Given the description of an element on the screen output the (x, y) to click on. 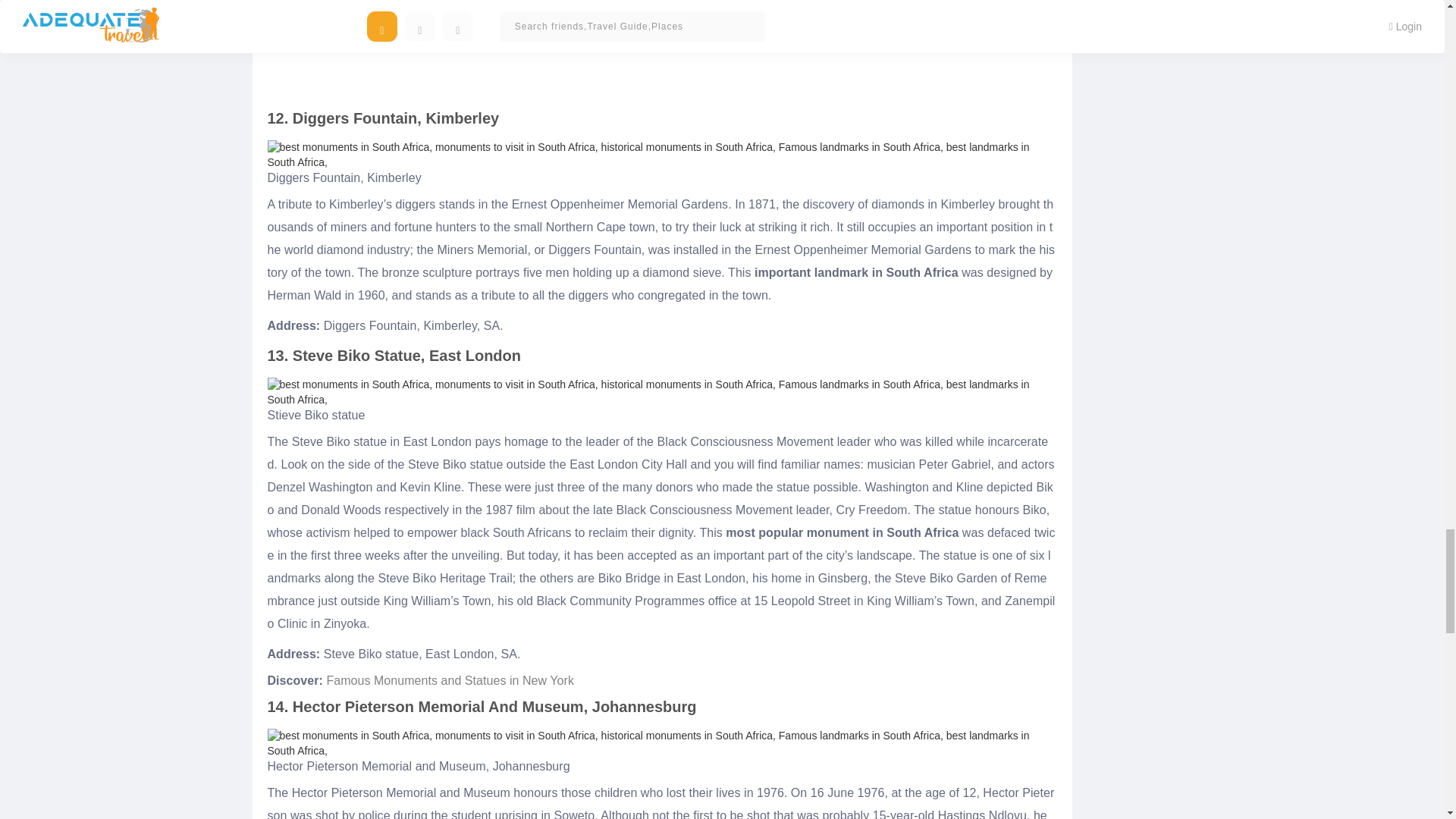
Famous Monuments and Statues in New York (449, 680)
